Given the description of an element on the screen output the (x, y) to click on. 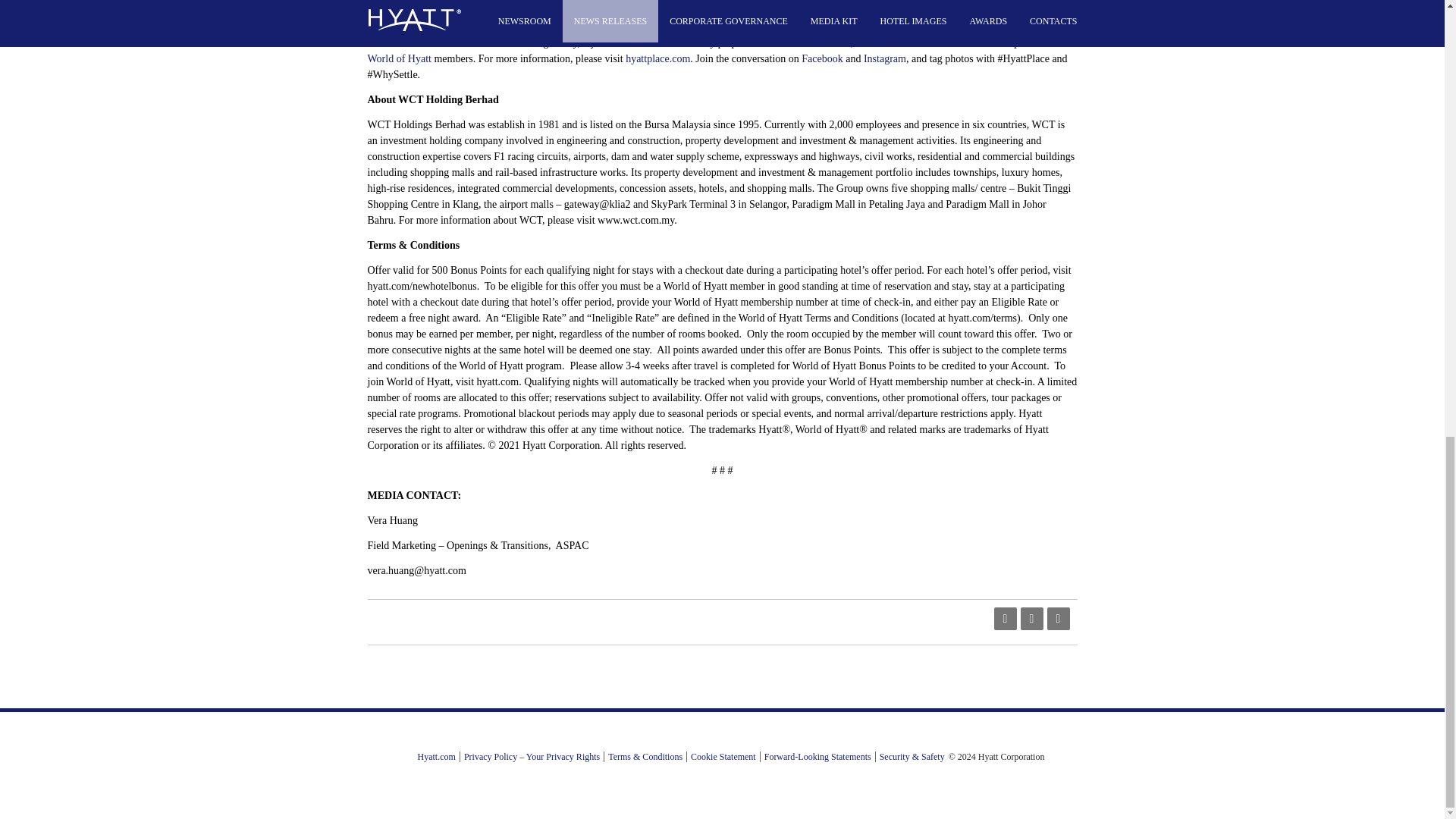
hyattplace.com (658, 58)
rss (1004, 618)
Forward-Looking Statements (817, 756)
Instagram (884, 58)
World of Hyatt (398, 58)
email (1031, 618)
print (1057, 618)
Facebook (822, 58)
Cookie Statement (722, 756)
Hyatt.com (436, 756)
